Given the description of an element on the screen output the (x, y) to click on. 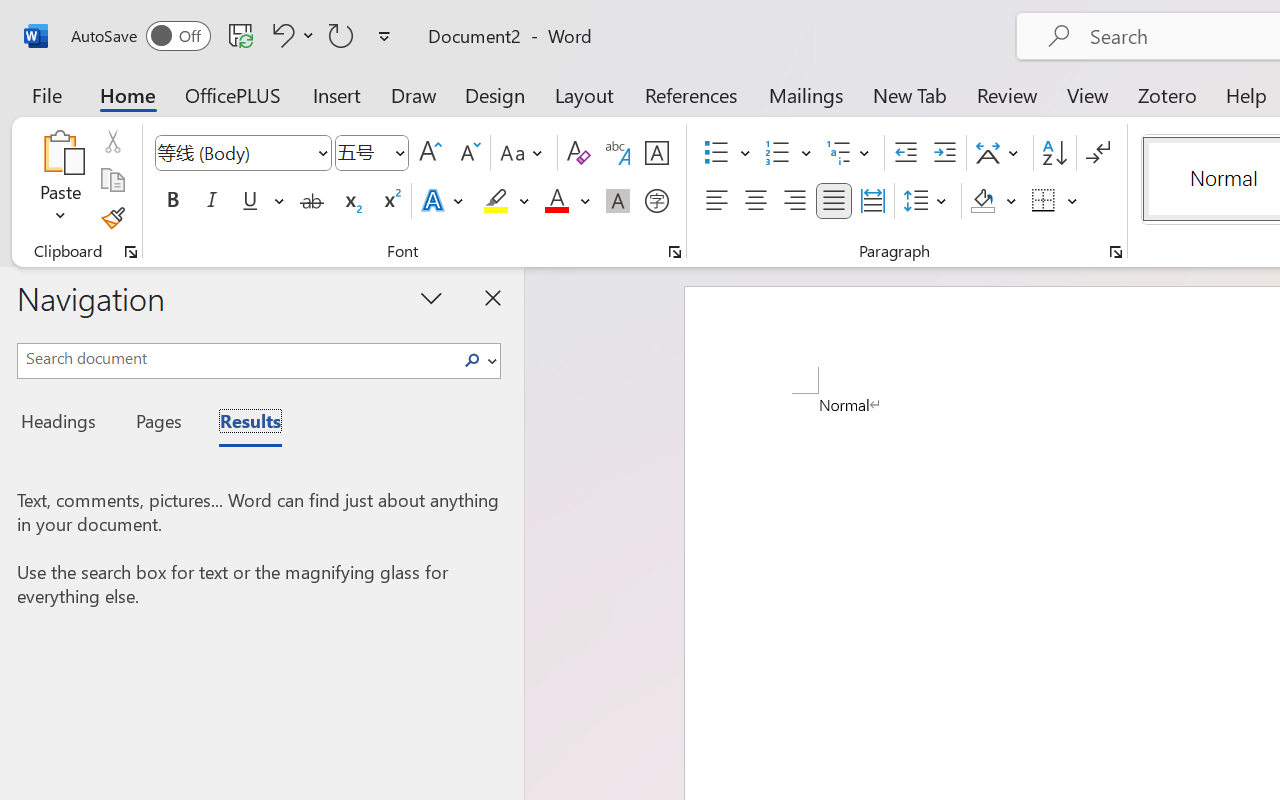
AutoSave (140, 35)
Paste (60, 179)
Align Right (794, 201)
Headings (64, 424)
Borders (1055, 201)
Strikethrough (312, 201)
Mailings (806, 94)
Italic (212, 201)
Shading RGB(0, 0, 0) (982, 201)
Asian Layout (1000, 153)
Shrink Font (468, 153)
Cut (112, 141)
Text Highlight Color (506, 201)
Class: NetUIImage (471, 360)
Subscript (350, 201)
